Given the description of an element on the screen output the (x, y) to click on. 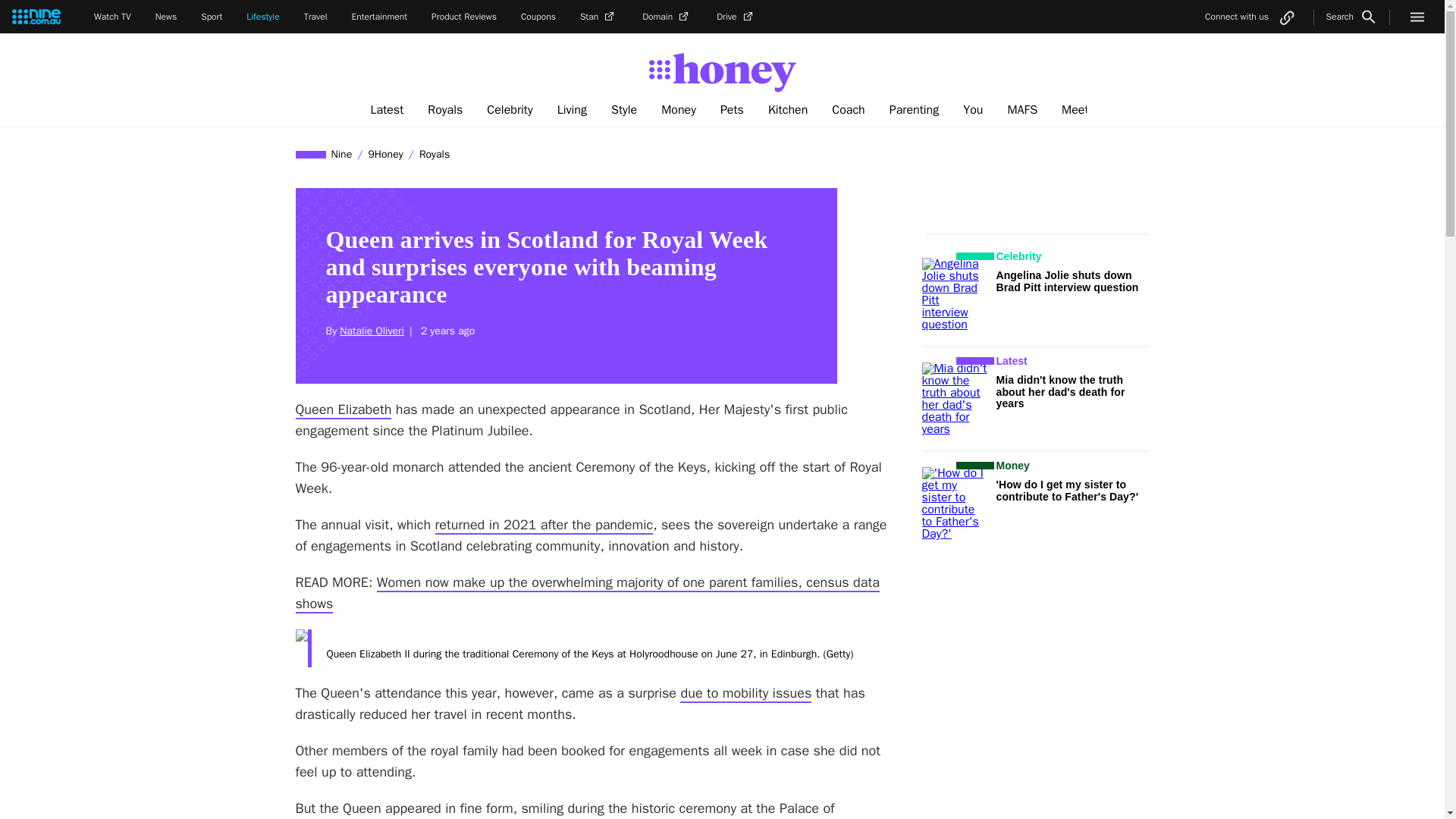
Celebrity (509, 109)
Watch TV (112, 16)
Living (571, 109)
Entertainment (379, 16)
Queen Elizabeth (343, 410)
Lifestyle (262, 16)
Royals (444, 109)
due to mobility issues (744, 693)
Domain (667, 16)
Coupons (538, 16)
